Given the description of an element on the screen output the (x, y) to click on. 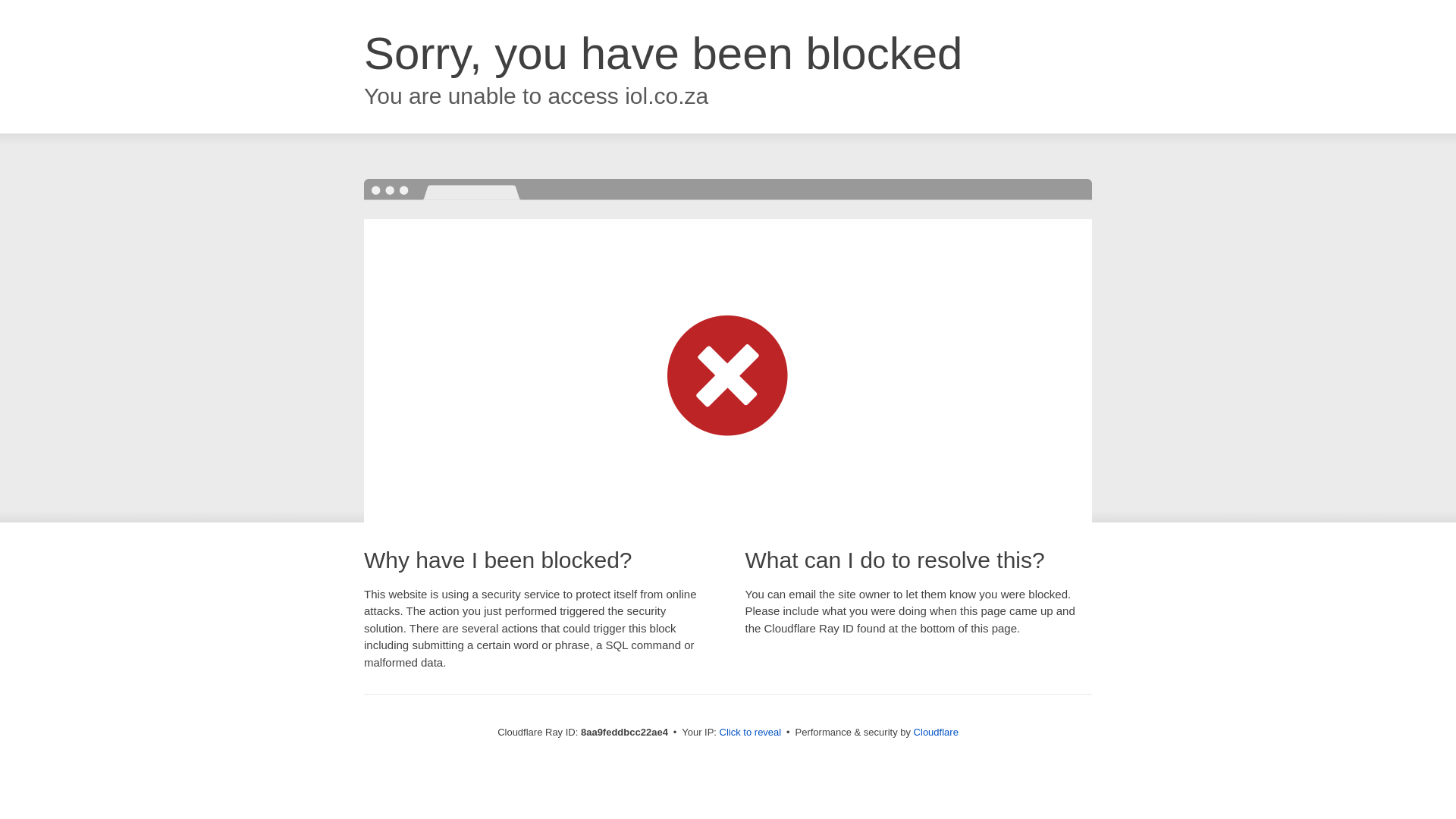
Click to reveal (750, 732)
Cloudflare (936, 731)
